Given the description of an element on the screen output the (x, y) to click on. 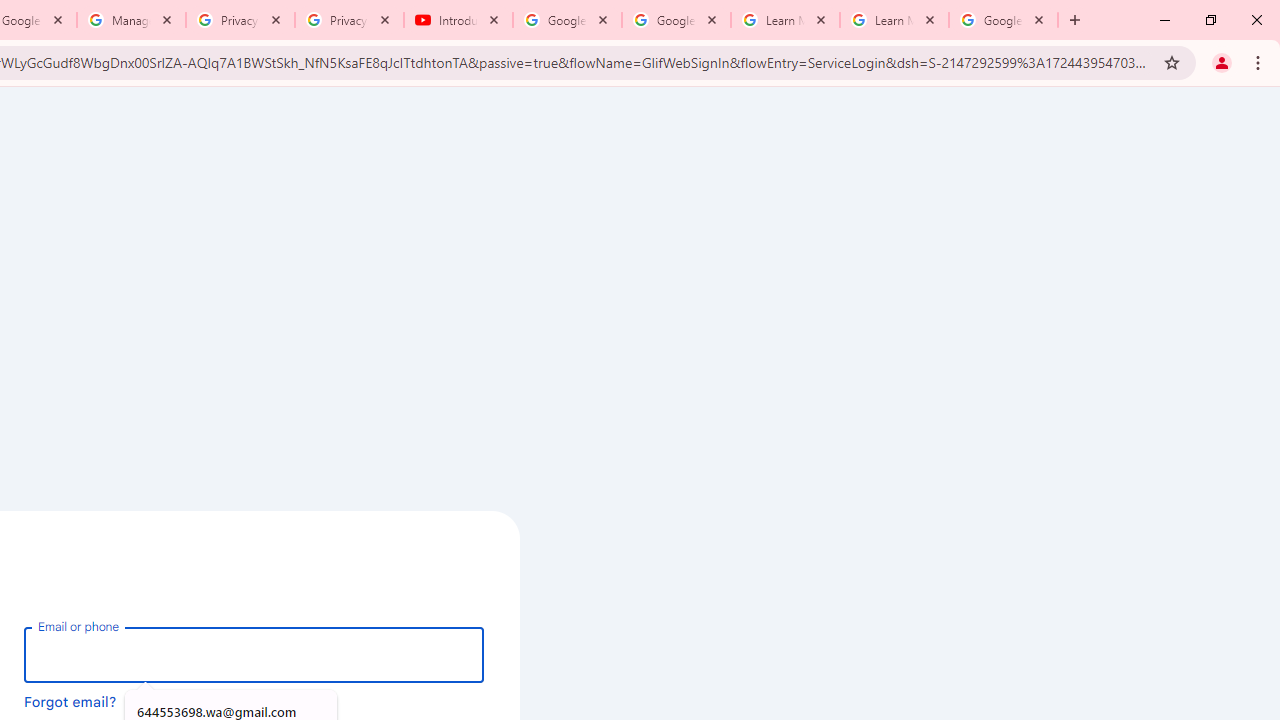
Forgot email? (70, 701)
Google Account (1003, 20)
Google Account Help (567, 20)
Email or phone (253, 654)
Google Account Help (676, 20)
